Given the description of an element on the screen output the (x, y) to click on. 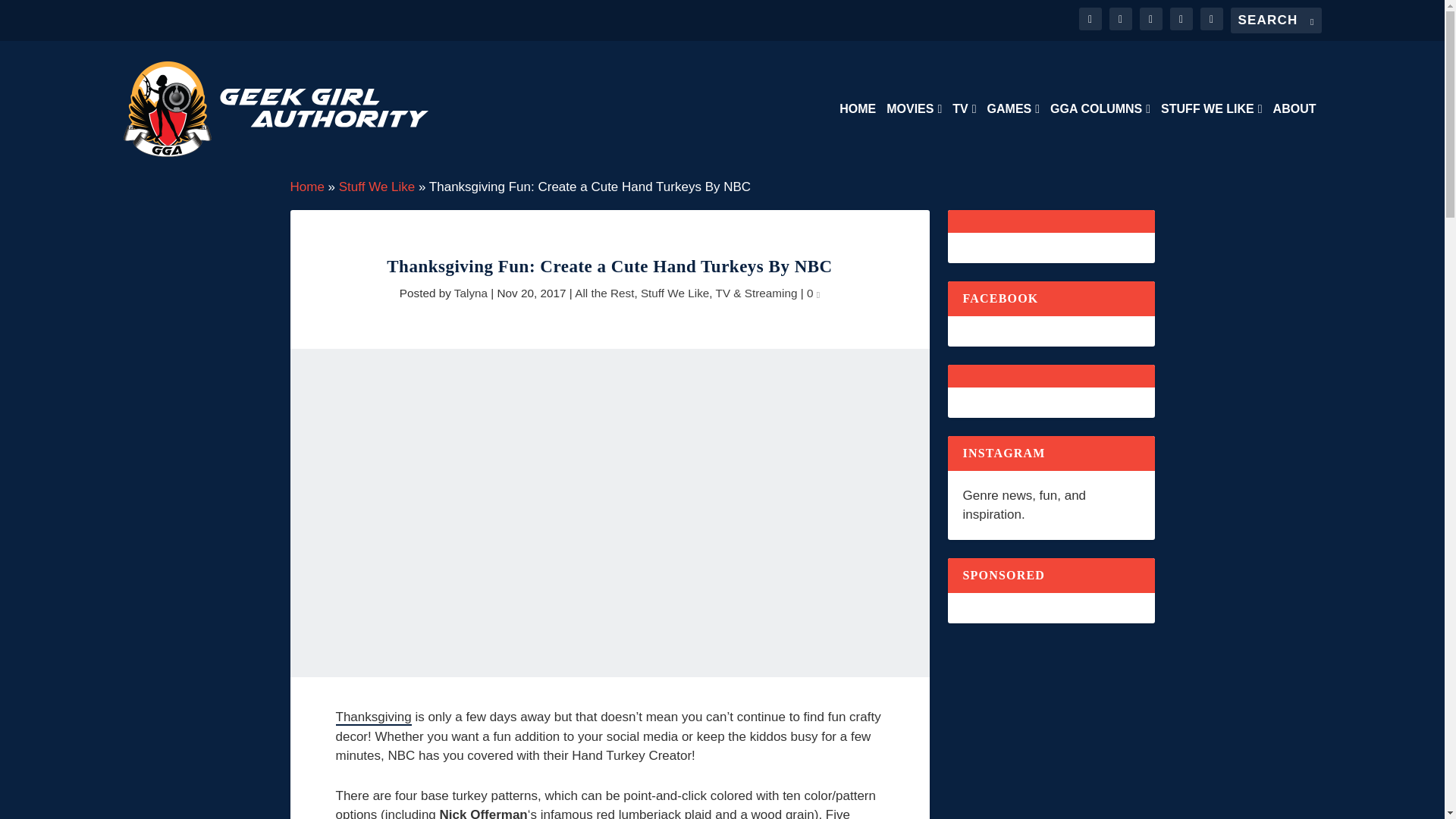
GGA COLUMNS (1099, 140)
Posts by Talyna (470, 292)
Search for: (1275, 20)
